Given the description of an element on the screen output the (x, y) to click on. 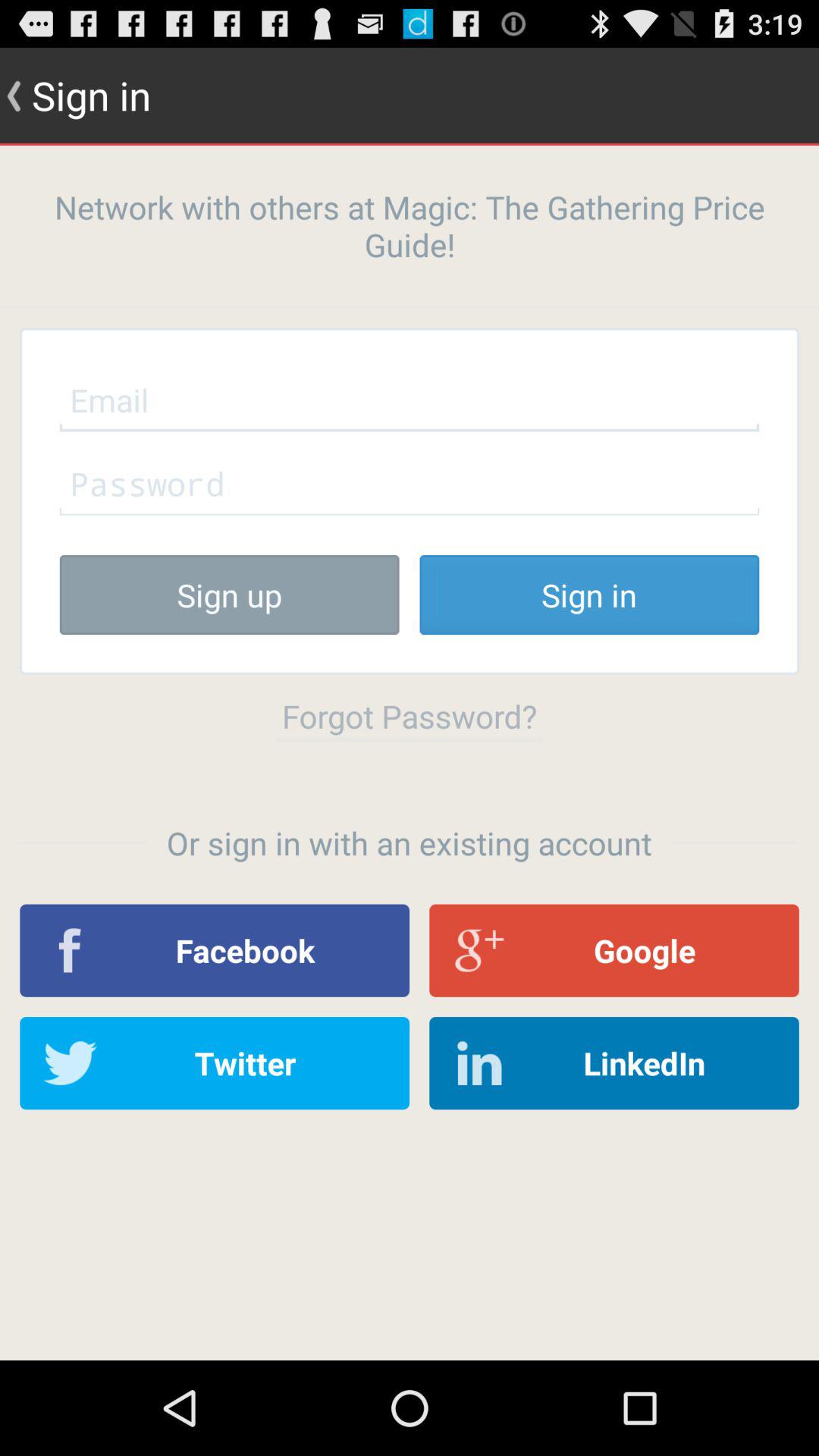
launch the item to the left of linkedin item (214, 1062)
